Given the description of an element on the screen output the (x, y) to click on. 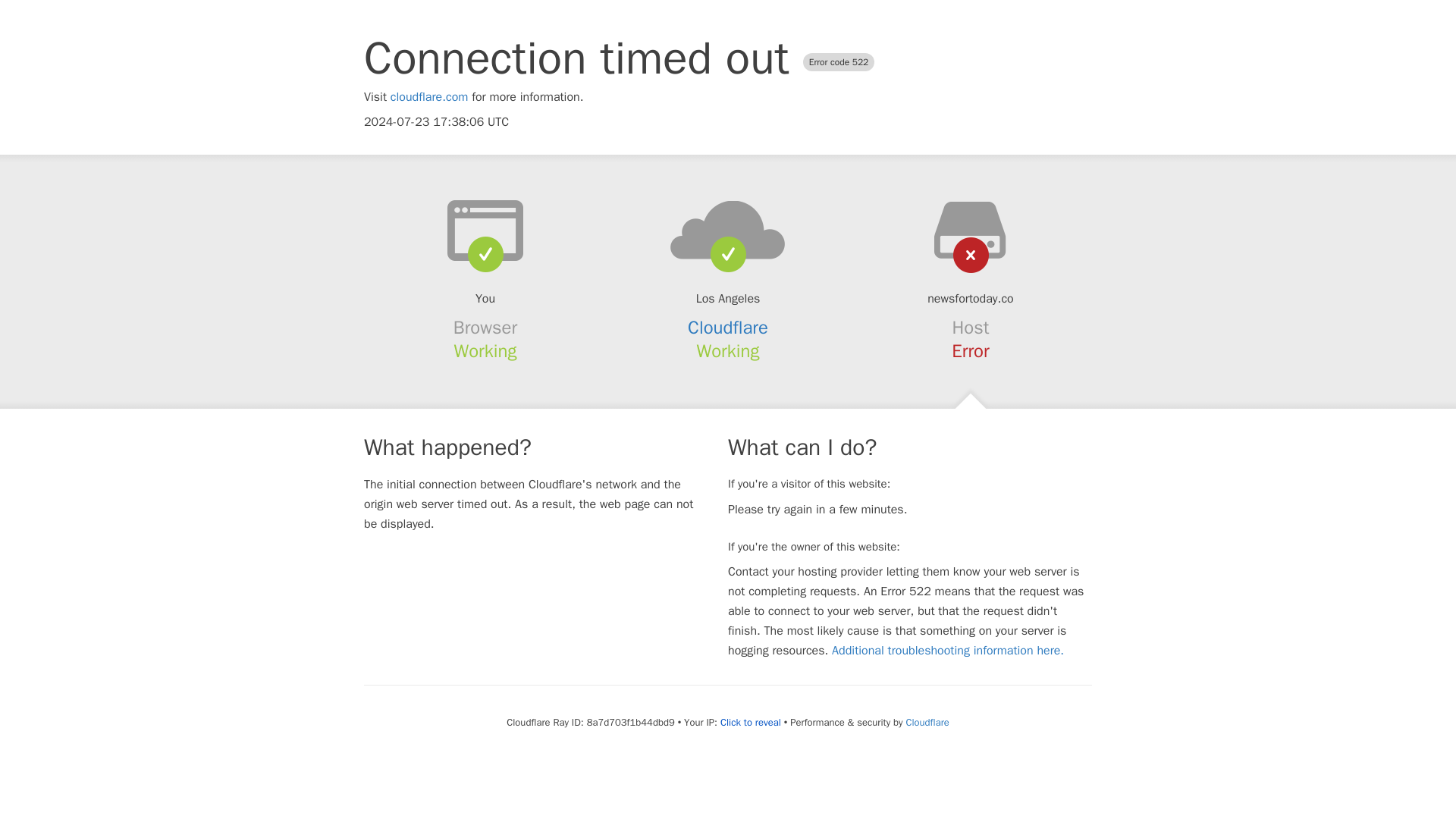
Additional troubleshooting information here. (947, 650)
cloudflare.com (429, 96)
Cloudflare (927, 721)
Click to reveal (750, 722)
Cloudflare (727, 327)
